Given the description of an element on the screen output the (x, y) to click on. 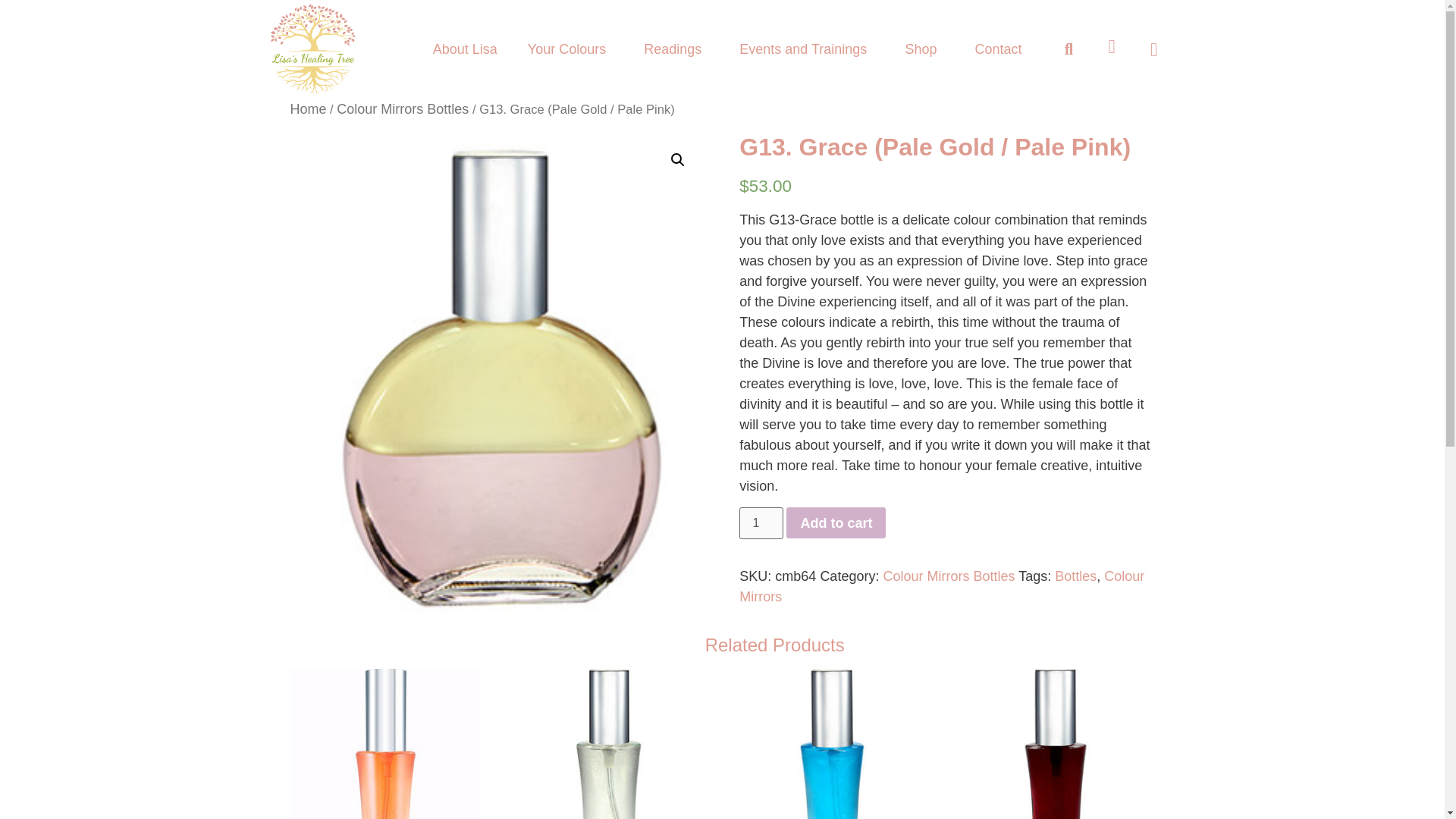
Shop (924, 48)
Events and Trainings (806, 48)
Your Colours (570, 48)
Readings (675, 48)
About Lisa (464, 48)
Contact (997, 48)
1 (761, 522)
Qty (761, 522)
